Given the description of an element on the screen output the (x, y) to click on. 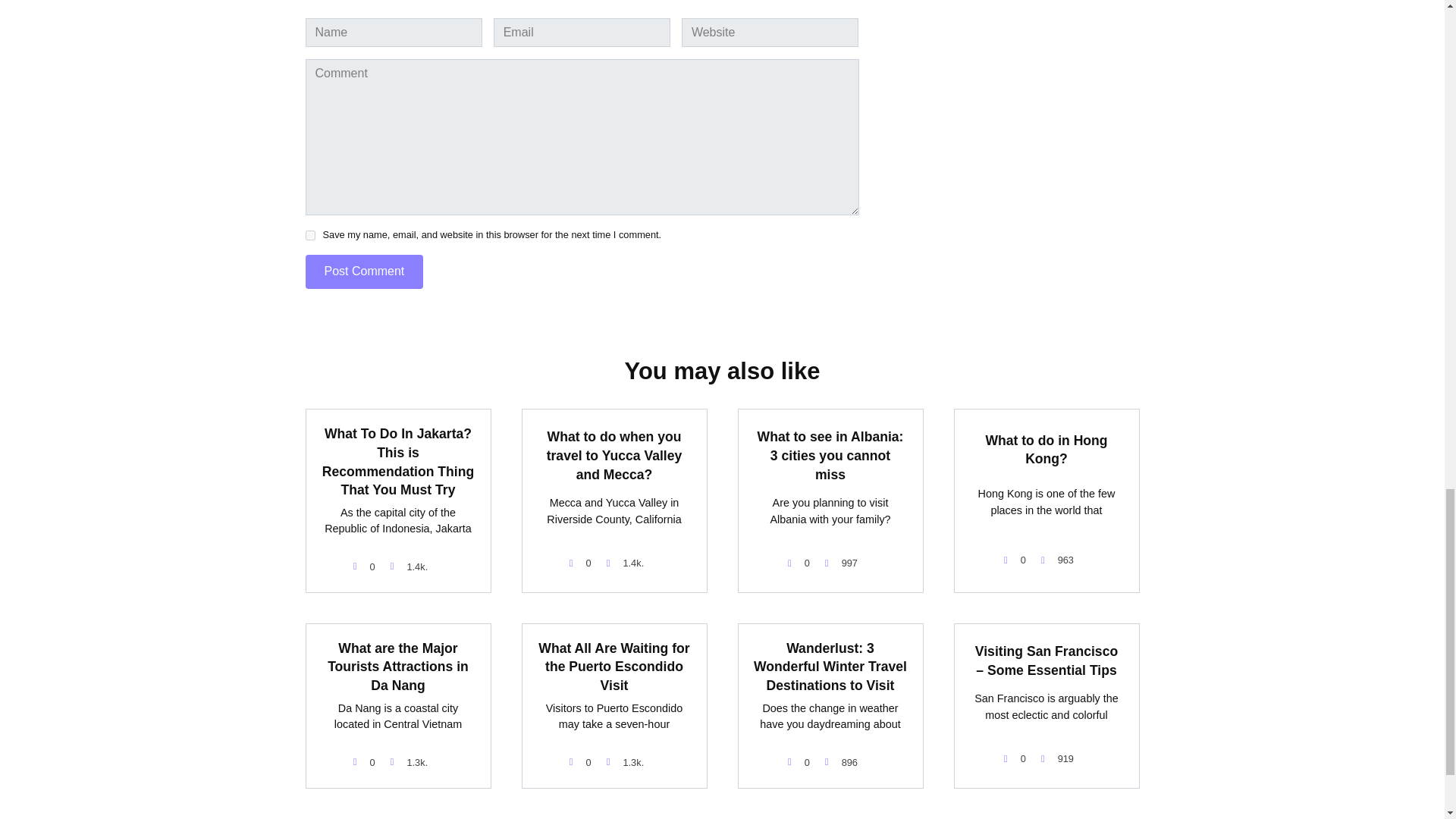
Wanderlust: 3 Wonderful Winter Travel Destinations to Visit (830, 666)
What All Are Waiting for the Puerto Escondido Visit (613, 666)
yes (309, 235)
What are the Major Tourists Attractions in Da Nang (397, 666)
What to see in Albania: 3 cities you cannot miss (830, 455)
What to do in Hong Kong? (1045, 448)
Post Comment (363, 271)
What to do when you travel to Yucca Valley and Mecca? (614, 455)
Post Comment (363, 271)
